Given the description of an element on the screen output the (x, y) to click on. 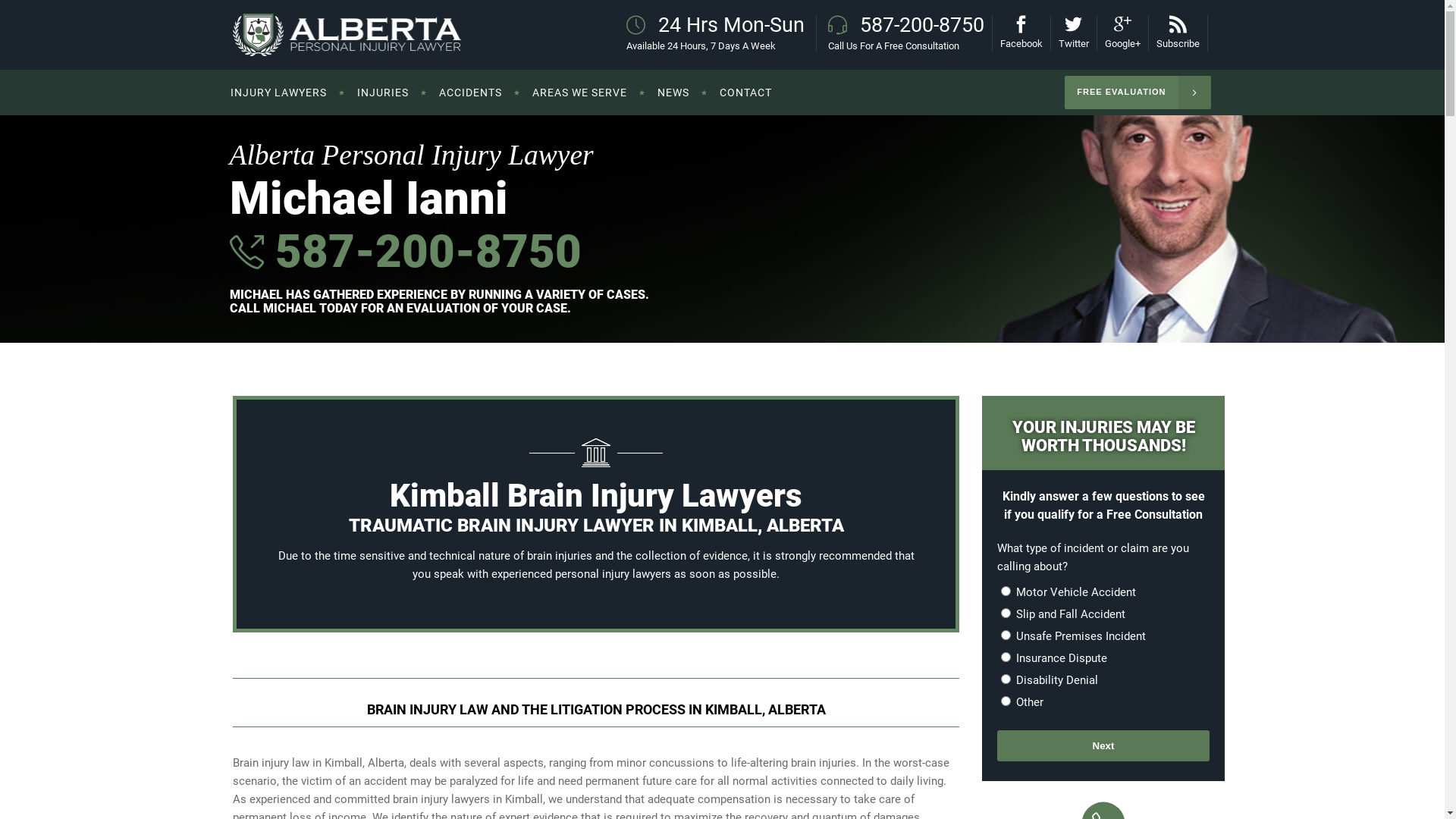
CONTACT Element type: text (744, 92)
AREAS WE SERVE Element type: text (579, 92)
FREE EVALUATION Element type: text (1137, 92)
INJURIES Element type: text (382, 92)
NEWS Element type: text (672, 92)
personal injury lawyers Element type: text (613, 573)
FREE EVALUATION Element type: text (1137, 92)
Next Element type: text (1103, 745)
587-200-8750 Element type: text (422, 251)
INJURY LAWYERS Element type: text (286, 92)
ACCIDENTS Element type: text (469, 92)
